Given the description of an element on the screen output the (x, y) to click on. 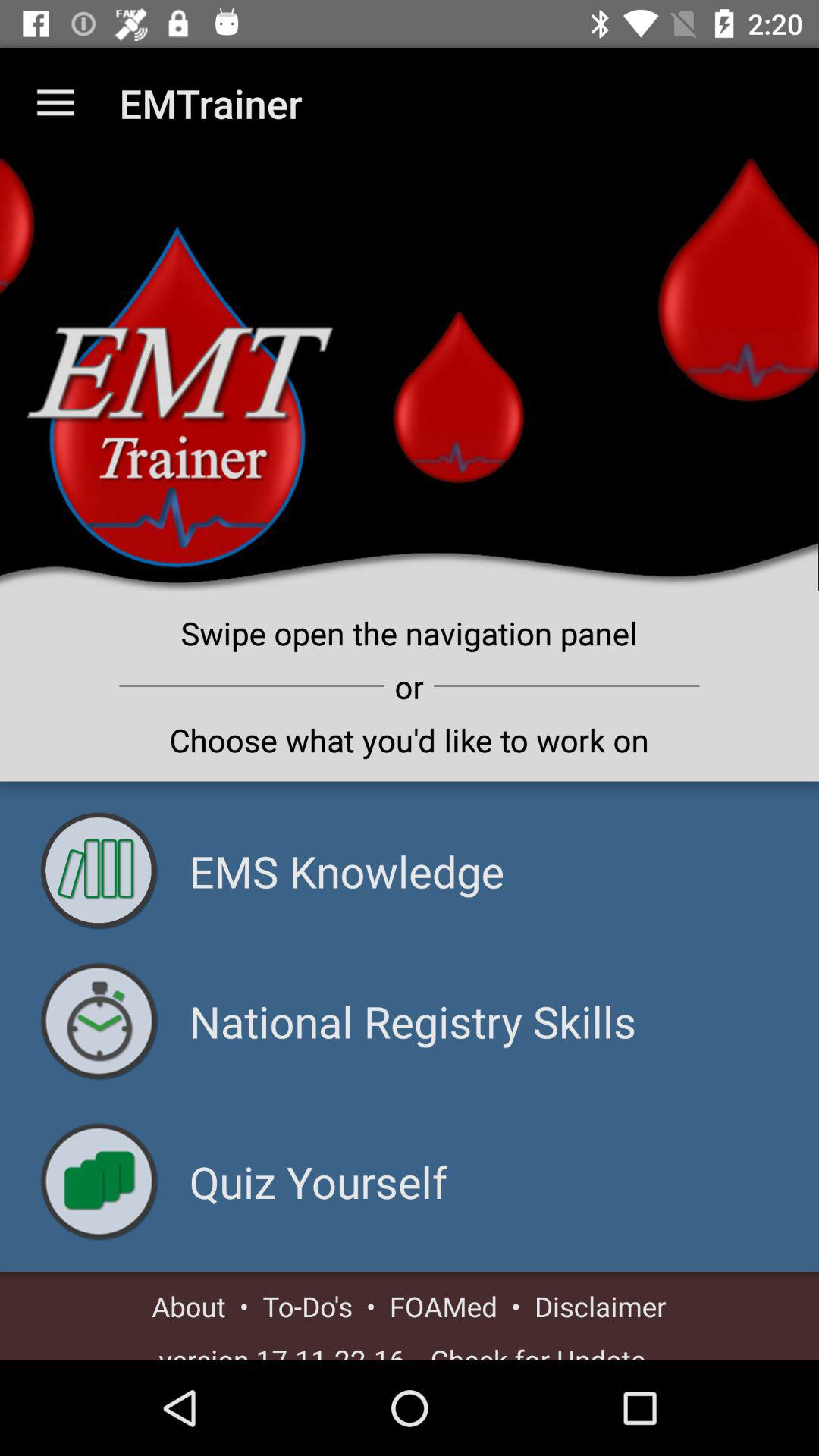
open the foamed item (443, 1306)
